Given the description of an element on the screen output the (x, y) to click on. 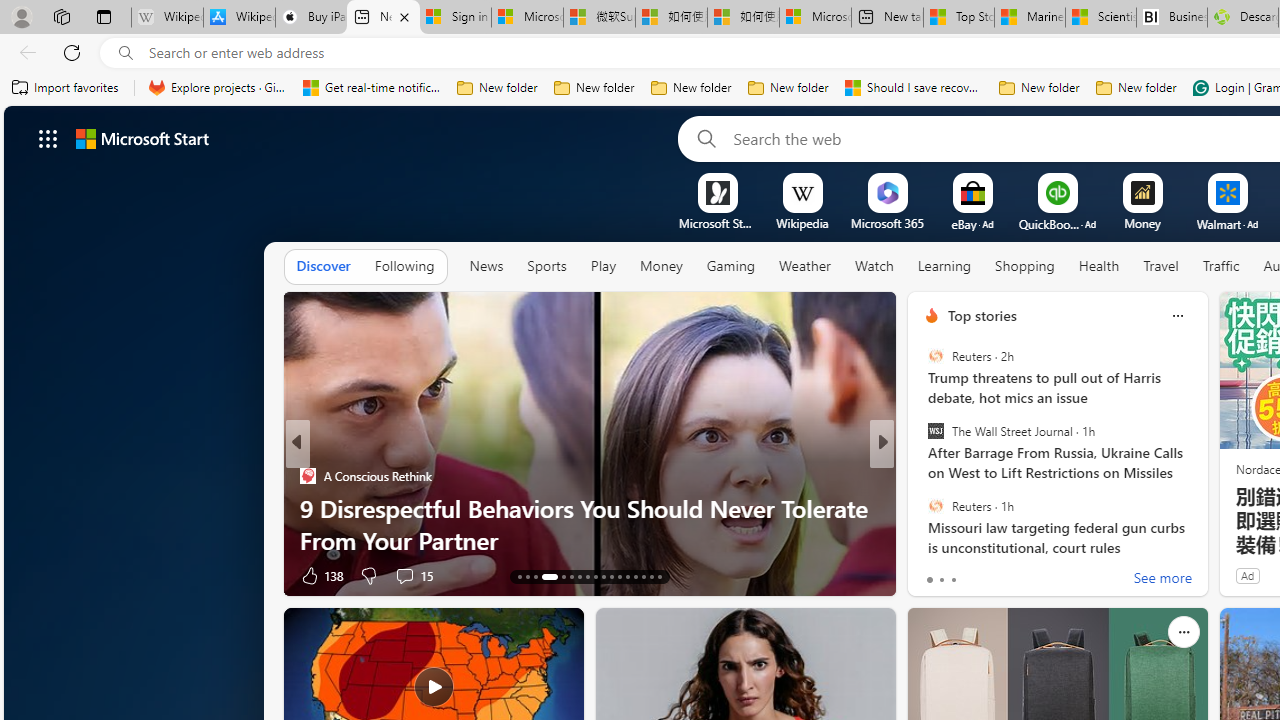
IT Concept (943, 507)
AutomationID: tab-25 (627, 576)
5k Like (933, 574)
AutomationID: tab-14 (527, 576)
Top stories (982, 315)
AutomationID: tab-36 (650, 576)
MSNBC (923, 475)
